Given the description of an element on the screen output the (x, y) to click on. 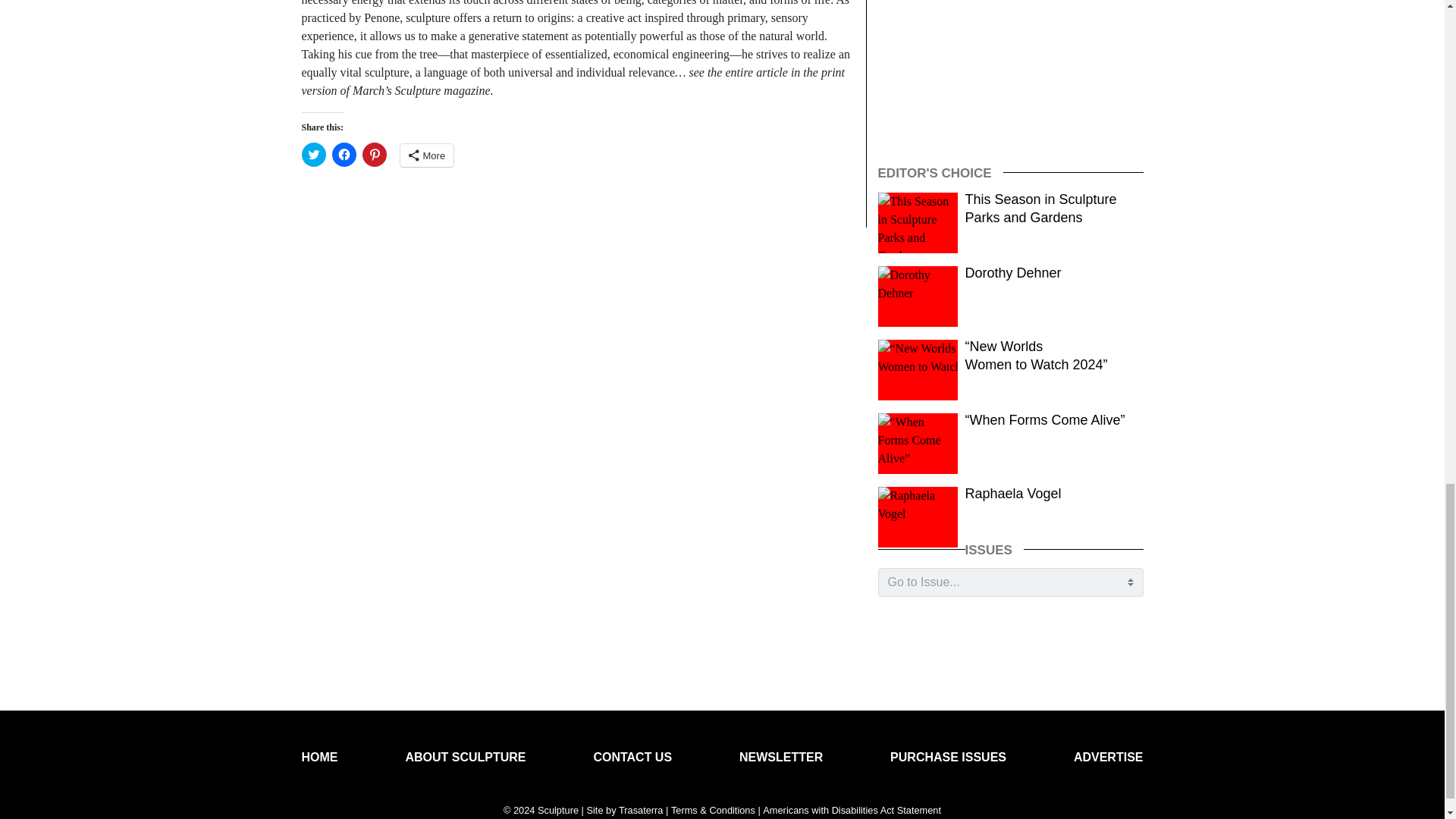
More (427, 155)
Click to share on Twitter (313, 154)
Click to share on Pinterest (374, 154)
Dorothy Dehner (1013, 272)
Click to share on Facebook (343, 154)
This Season in Sculpture Parks and Gardens (1040, 207)
Raphaela Vogel (1013, 493)
